Given the description of an element on the screen output the (x, y) to click on. 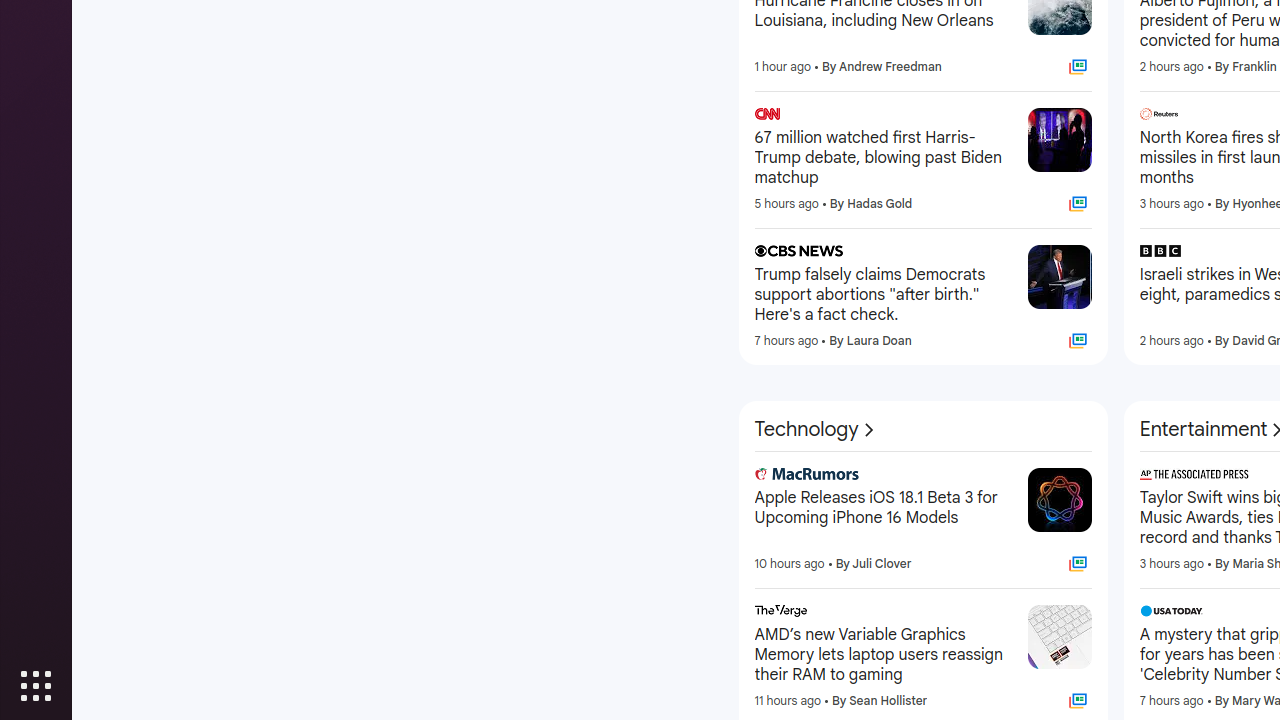
Technology Element type: link (816, 430)
More - AMD’s new Variable Graphics Memory lets laptop users reassign their RAM to gaming Element type: push-button (1005, 614)
AMD’s new Variable Graphics Memory lets laptop users reassign their RAM to gaming Element type: link (883, 655)
Trump falsely claims Democrats support abortions "after birth." Here's a fact check. Element type: link (883, 295)
More - Trump falsely claims Democrats support abortions "after birth." Here's a fact check. Element type: push-button (1005, 254)
